Given the description of an element on the screen output the (x, y) to click on. 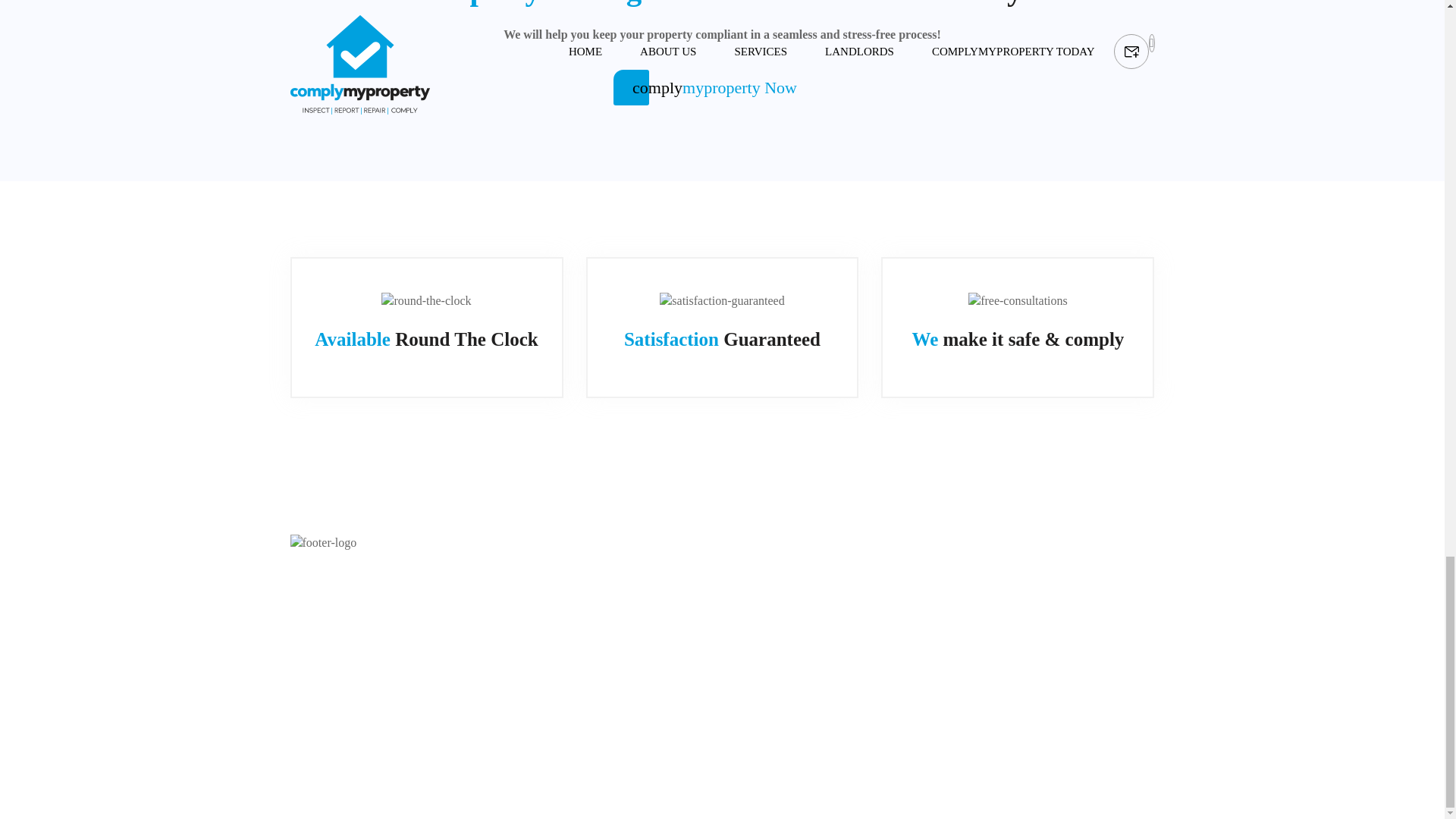
complymyproperty Now (721, 87)
Smoke Alarm Compliance (576, 606)
Pool Compliance (576, 581)
Water Efficiency Compliance (576, 632)
Sync Marketing (498, 732)
1800 88 12 88 (848, 632)
